Given the description of an element on the screen output the (x, y) to click on. 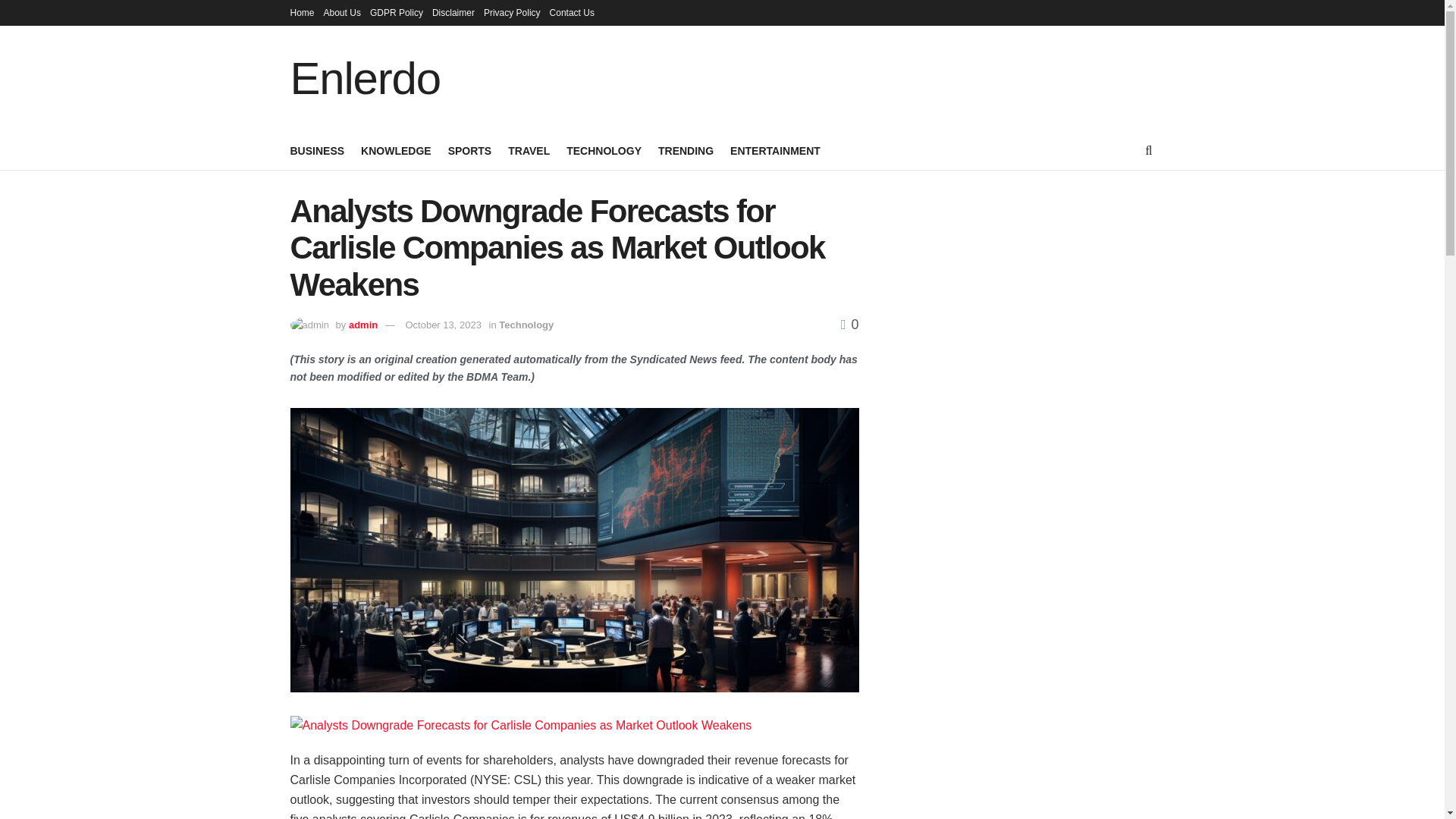
0 (850, 324)
Disclaimer (453, 12)
admin (363, 324)
Technology (526, 324)
Home (301, 12)
Contact Us (572, 12)
KNOWLEDGE (395, 150)
BUSINESS (316, 150)
October 13, 2023 (442, 324)
Privacy Policy (511, 12)
TRAVEL (529, 150)
ENTERTAINMENT (775, 150)
About Us (342, 12)
TECHNOLOGY (604, 150)
GDPR Policy (396, 12)
